Given the description of an element on the screen output the (x, y) to click on. 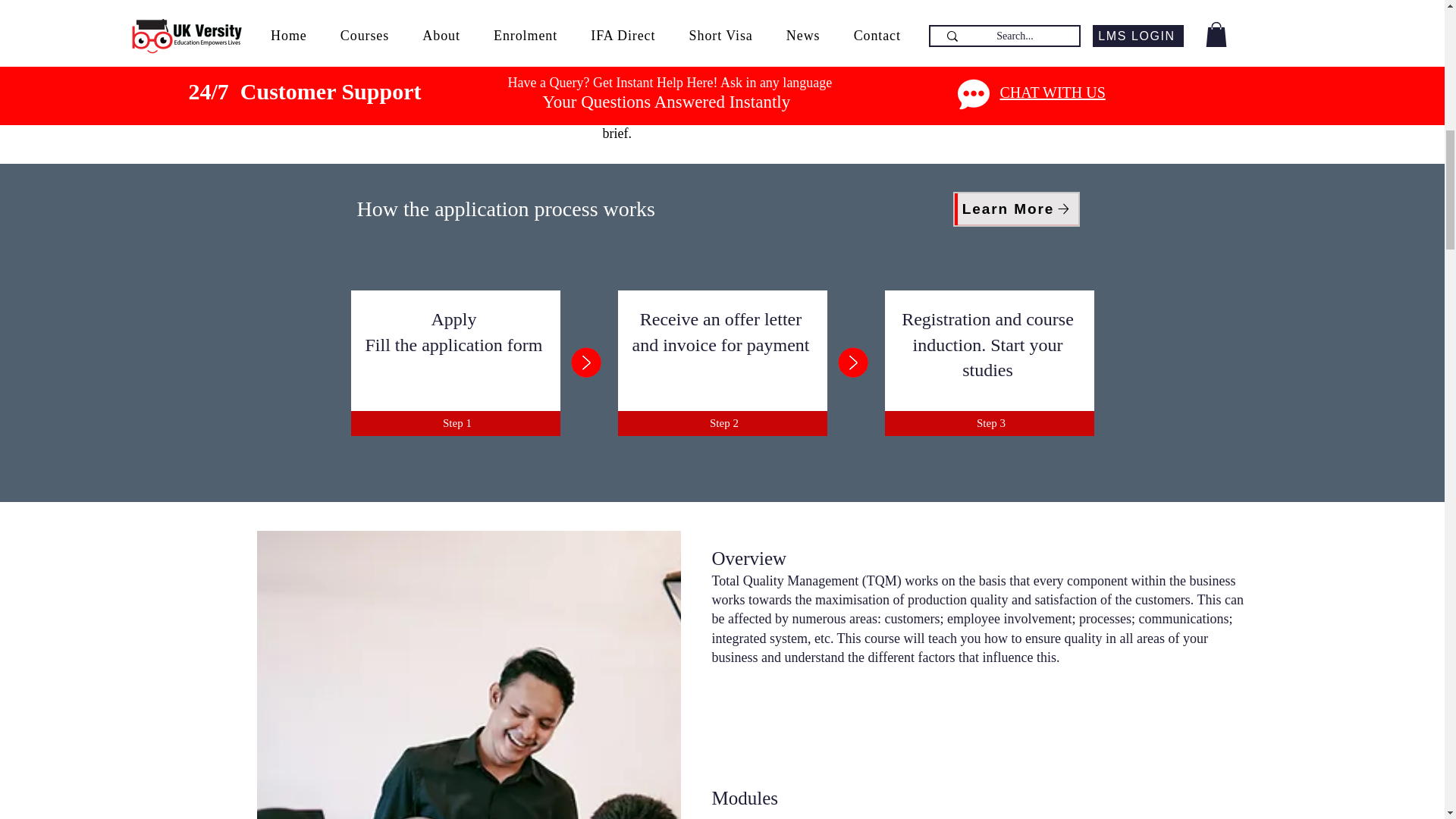
Business meeting in a cafe.jpg (467, 674)
